Given the description of an element on the screen output the (x, y) to click on. 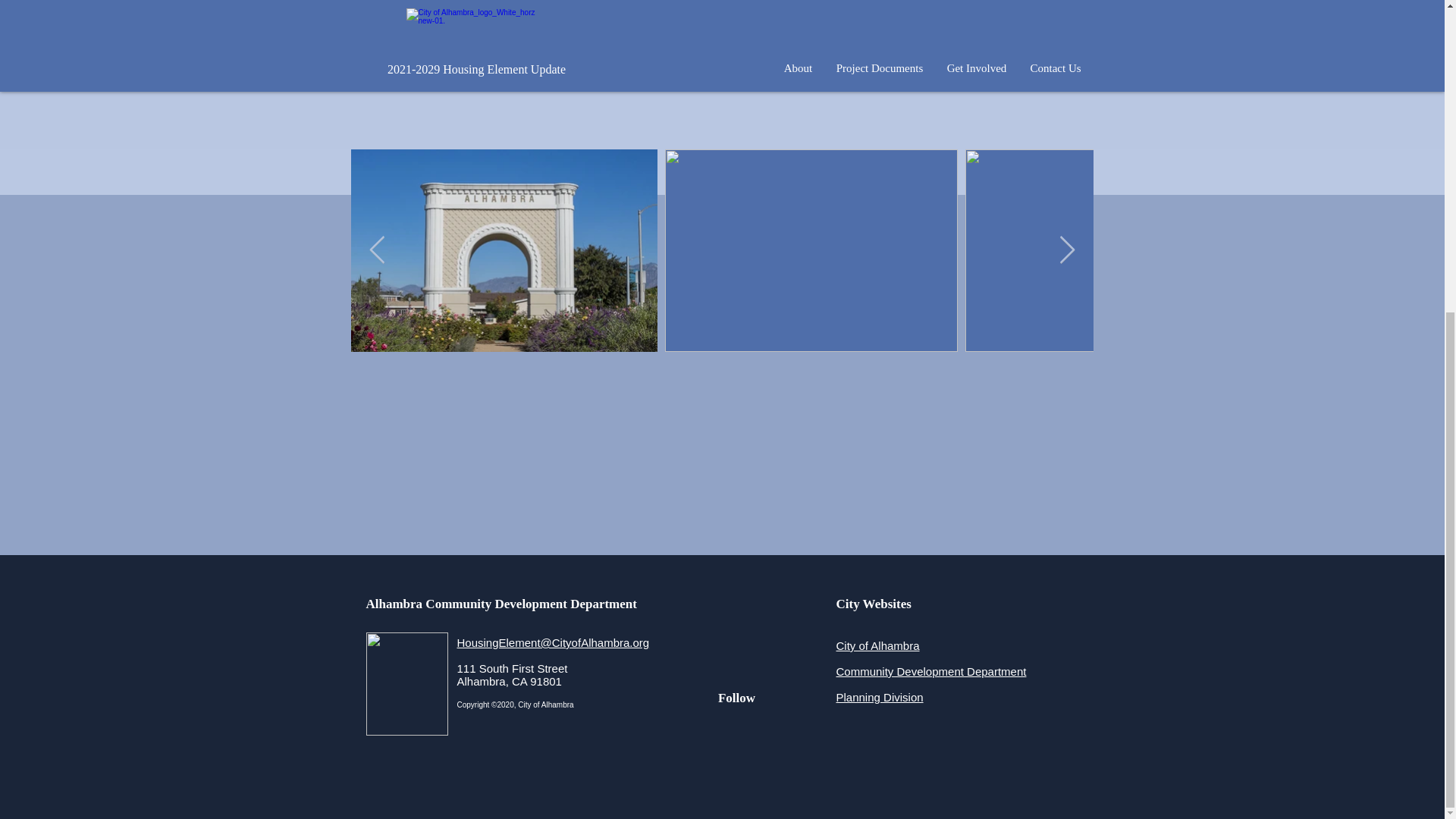
Planning Division (879, 697)
City of Alhambra (876, 645)
Community Development Department (930, 671)
